Given the description of an element on the screen output the (x, y) to click on. 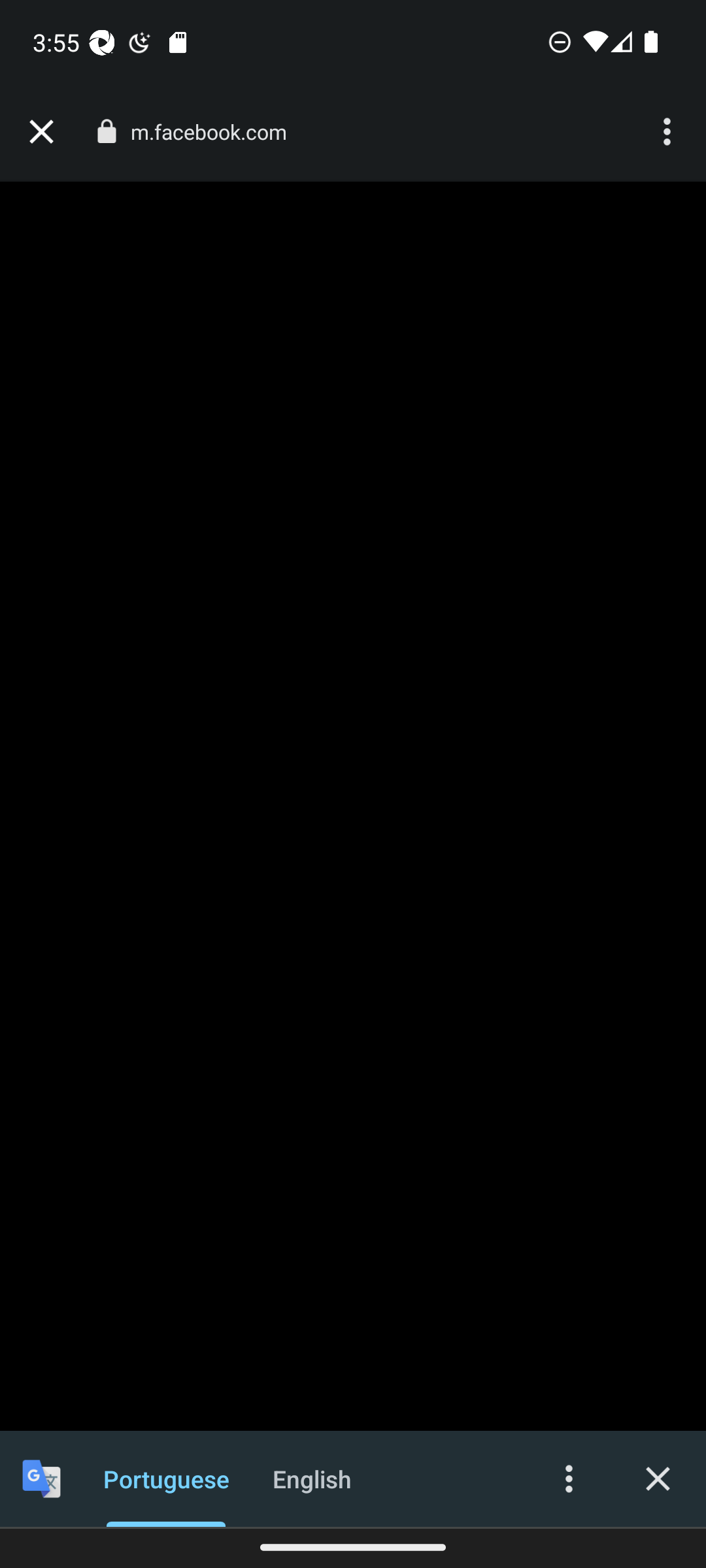
Close tab (41, 131)
More options (669, 131)
Connection is secure (106, 131)
m.facebook.com (215, 131)
English (312, 1478)
More options (568, 1478)
Close (657, 1478)
